Given the description of an element on the screen output the (x, y) to click on. 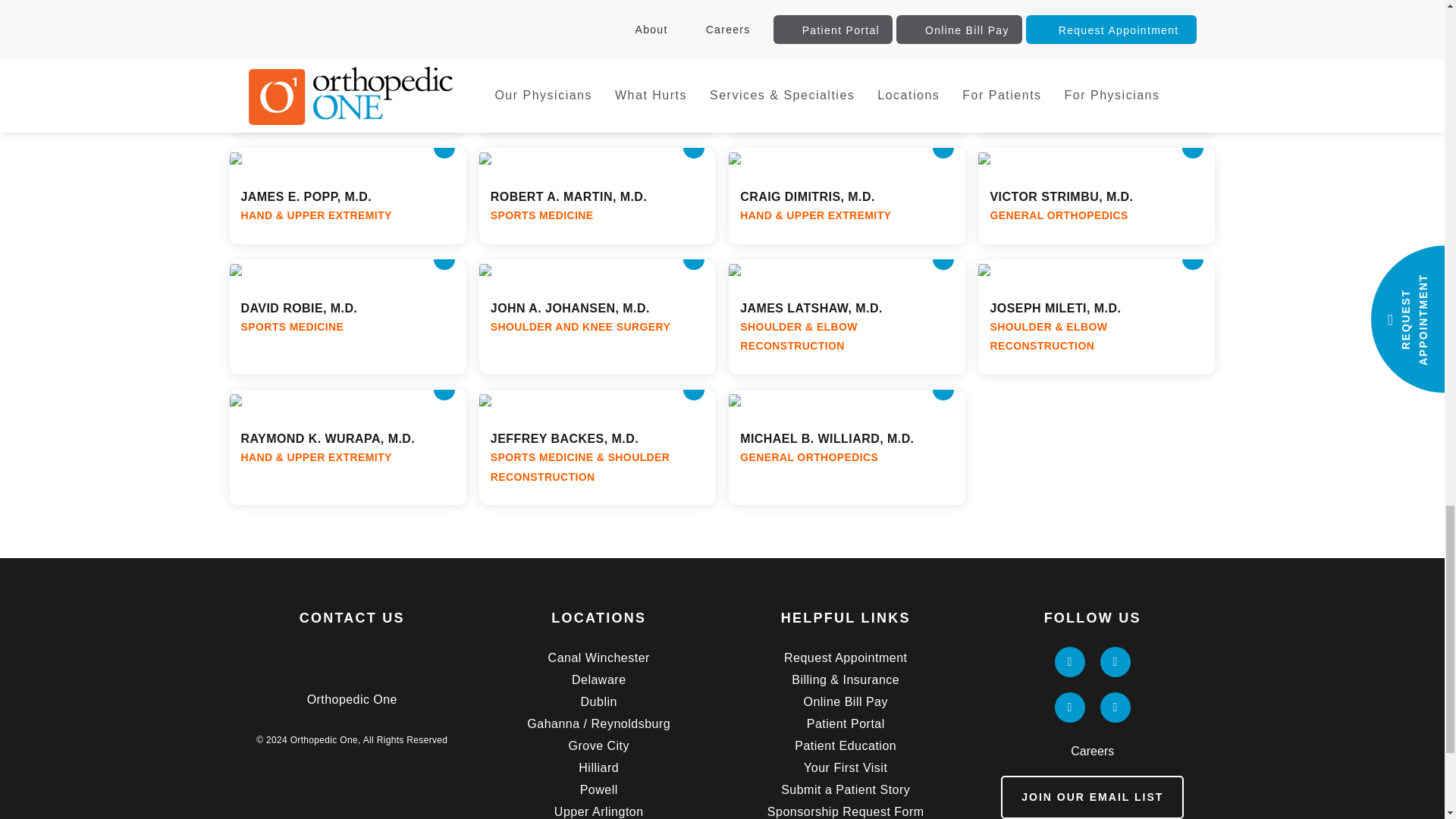
Join Our Email List (1092, 797)
Careers (1092, 751)
Orthopedic One Home Page (352, 656)
